Given the description of an element on the screen output the (x, y) to click on. 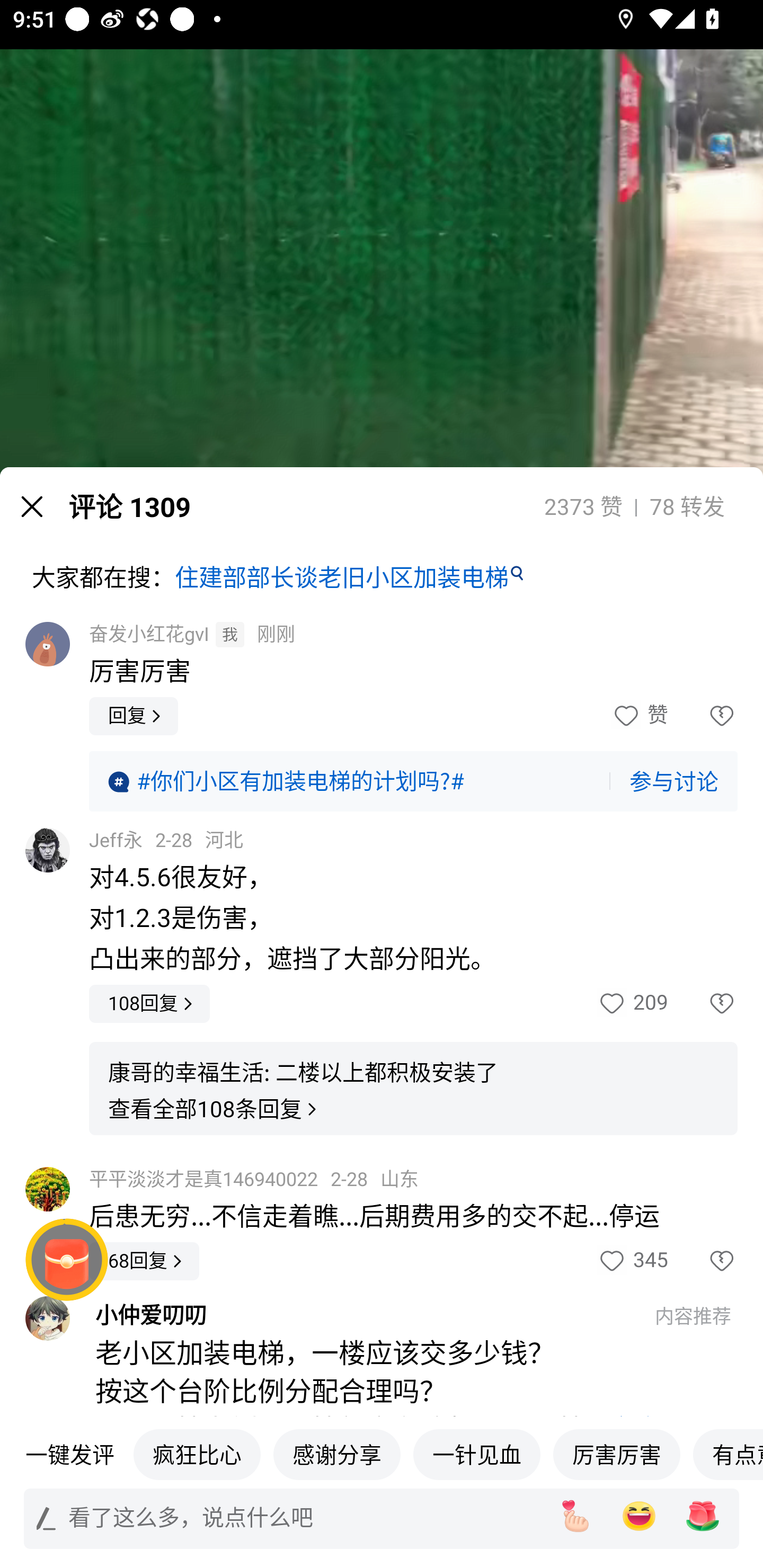
关闭 (31, 506)
奋发小红花gvI 刚刚 (192, 634)
回复 (133, 716)
赞 (638, 716)
踩 (702, 716)
参与讨论,一起参与讨论吧！  #你们小区有加装电梯的计划吗?# 参与讨论 (413, 781)
Jeff永 2-28 河北 (166, 840)
108回复 (149, 1003)
赞209 赞 (631, 1003)
踩 (702, 1003)
康哥的幸福生活: 二楼以上都积极安装了 查看全部108条回复 (413, 1088)
查看全部108条回复 (214, 1109)
平平淡淡才是真146940022 2-28 山东 (253, 1179)
阅读赚金币 (66, 1259)
68回复 (144, 1261)
赞345 赞 (631, 1260)
踩 (702, 1260)
小仲爱叨叨 (365, 1315)
相关搜索：住建部部长谈老旧小区加装电梯 (381, 1459)
疯狂比心 (196, 1454)
感谢分享 (336, 1454)
一针见血 (476, 1454)
厉害厉害 (616, 1454)
看了这么多，说点什么吧 [比心] [大笑] [玫瑰] (381, 1518)
[比心] (574, 1516)
[大笑] (638, 1516)
[玫瑰] (702, 1516)
